Given the description of an element on the screen output the (x, y) to click on. 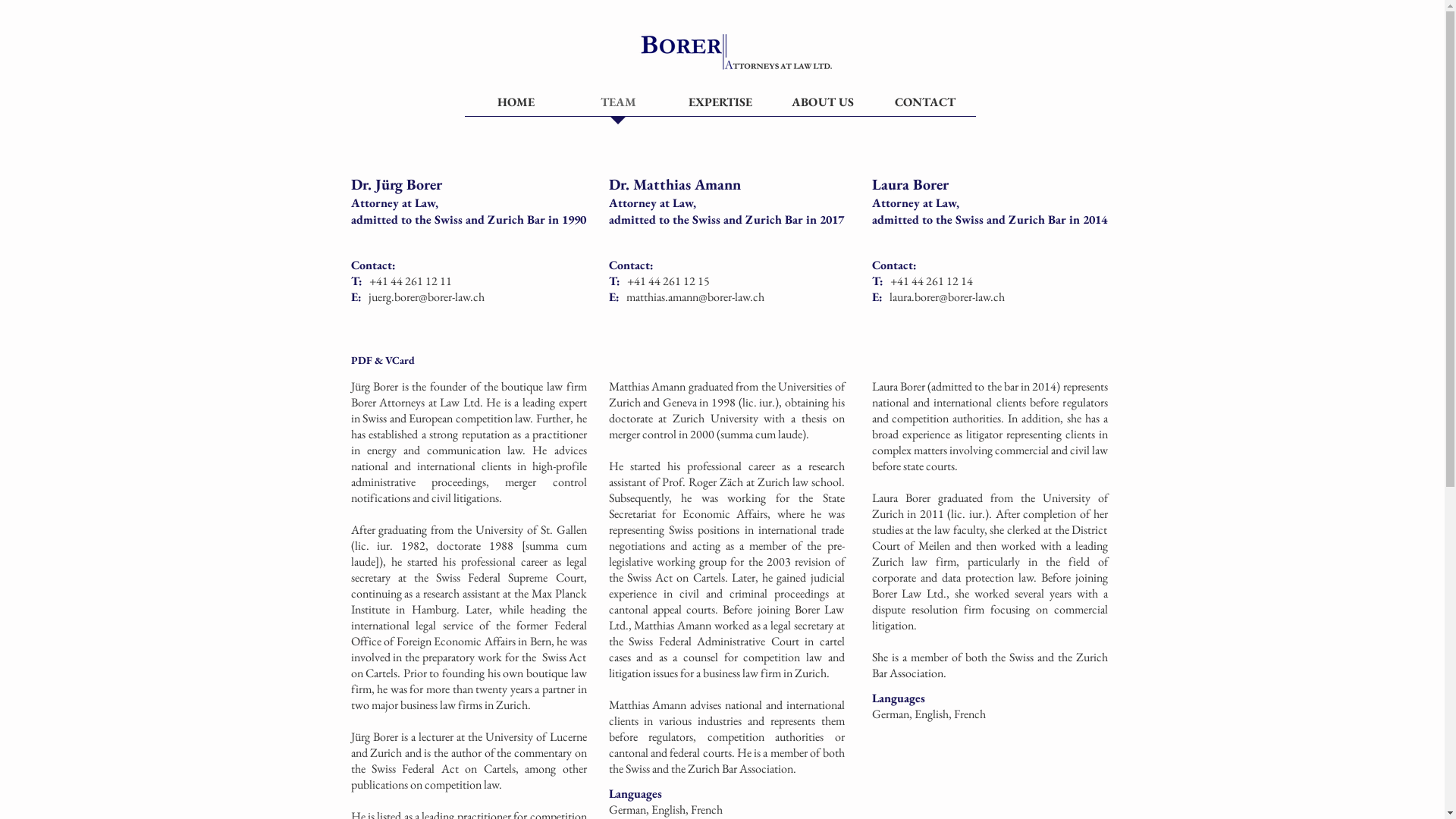
laura.borer@borer-law.ch Element type: text (946, 296)
matthias.amann@borer-law.ch Element type: text (695, 296)
EXPERTISE Element type: text (719, 106)
juerg.borer@borer-law.ch Element type: text (426, 296)
HOME Element type: text (515, 106)
CONTACT Element type: text (924, 106)
PDF & VCard Element type: text (393, 360)
TEAM Element type: text (618, 106)
ABOUT US Element type: text (822, 106)
